Given the description of an element on the screen output the (x, y) to click on. 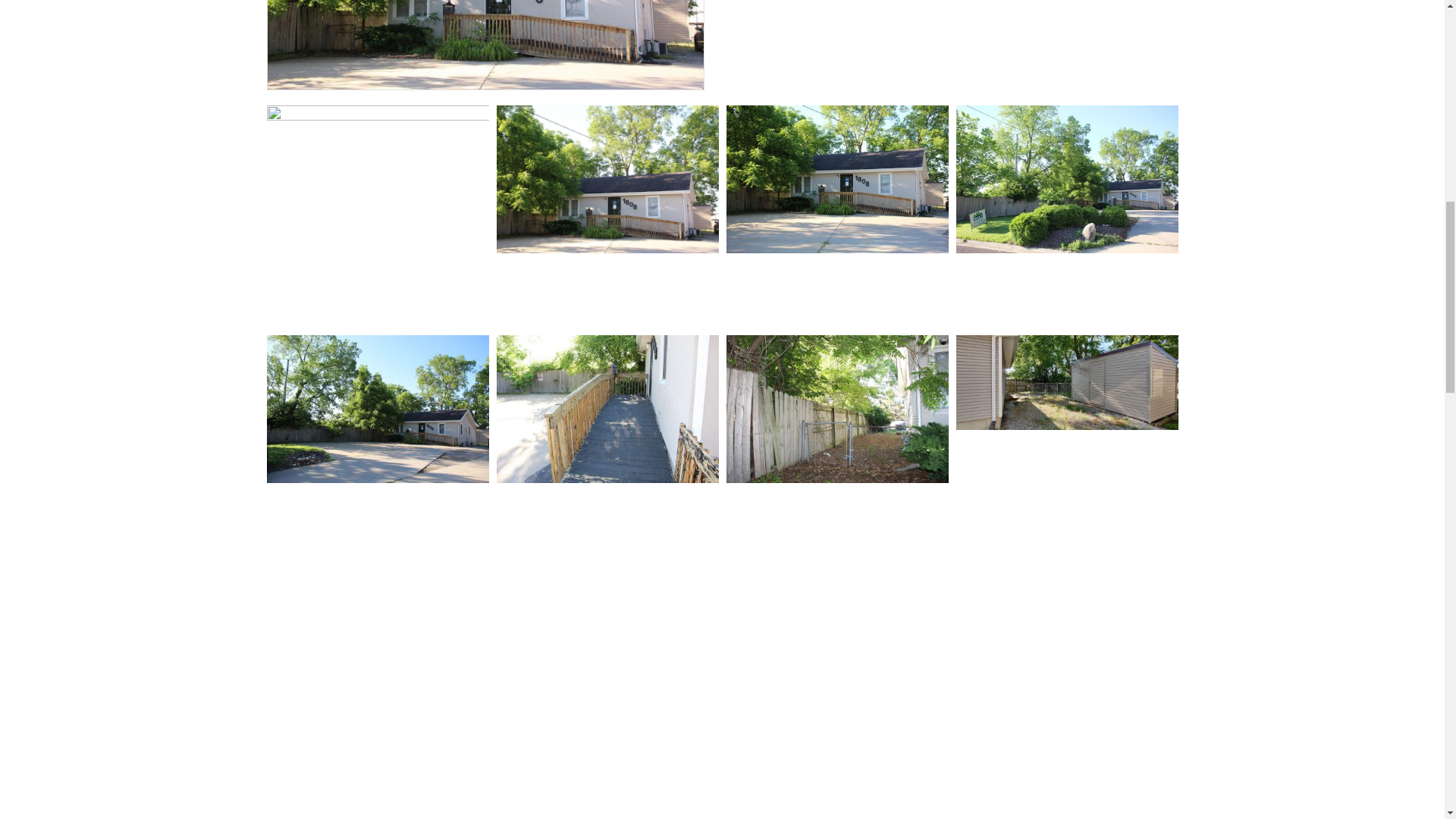
YouTube video player 1 (957, 30)
Individual Offices For Rent in Columbia Missouri (607, 179)
Individual Offices For Rent in Columbia Missouri (485, 44)
